Given the description of an element on the screen output the (x, y) to click on. 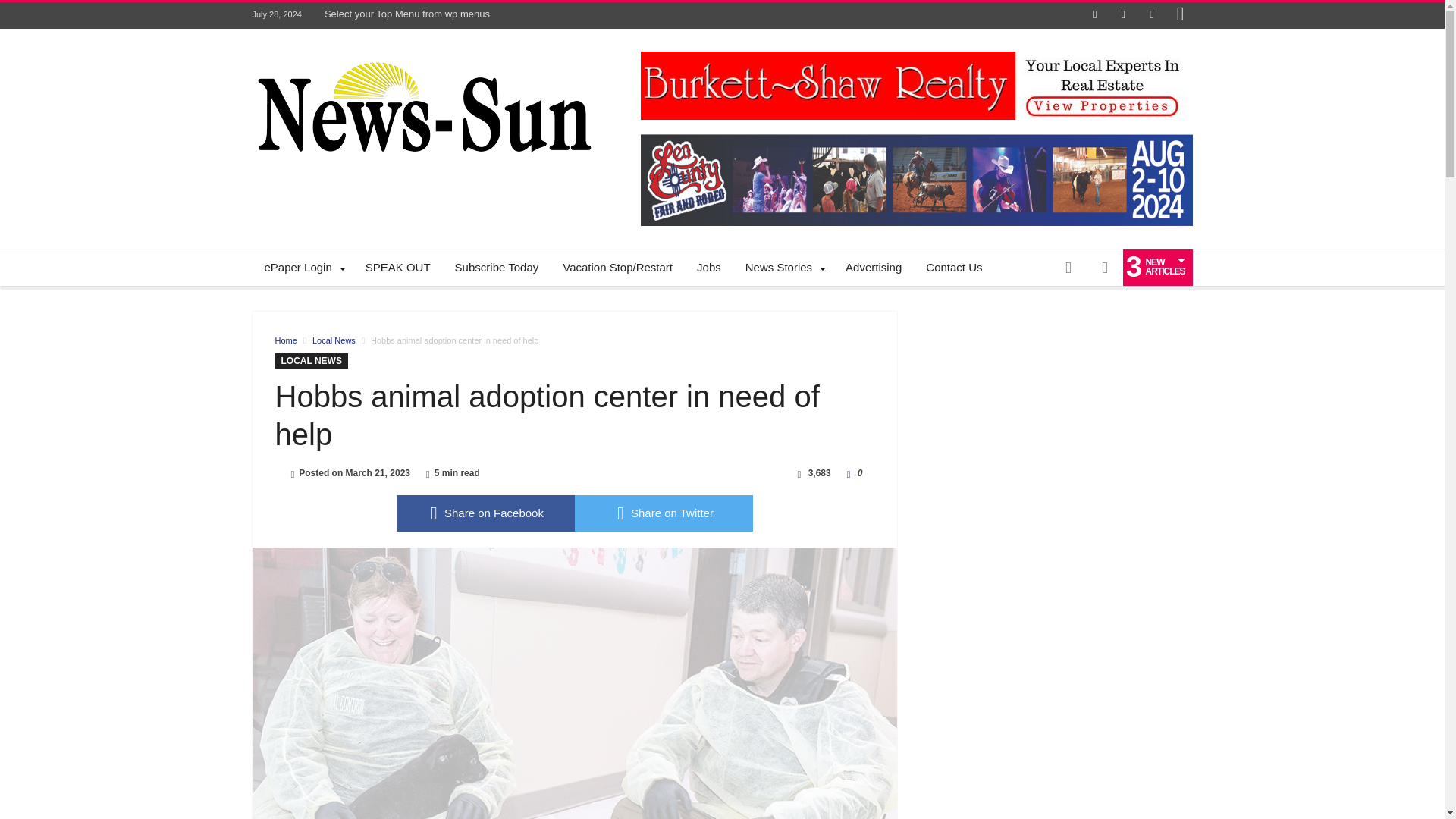
I like this article (849, 472)
SPEAK OUT (397, 267)
News Stories (782, 267)
ePaper Login (301, 267)
Twitter (1122, 15)
Youtube (1151, 15)
instagram (1179, 15)
Hobbs News Sun (421, 50)
Jobs (708, 267)
Subscribe Today (496, 267)
twitter (663, 513)
facebook (484, 513)
Facebook (1094, 15)
